Given the description of an element on the screen output the (x, y) to click on. 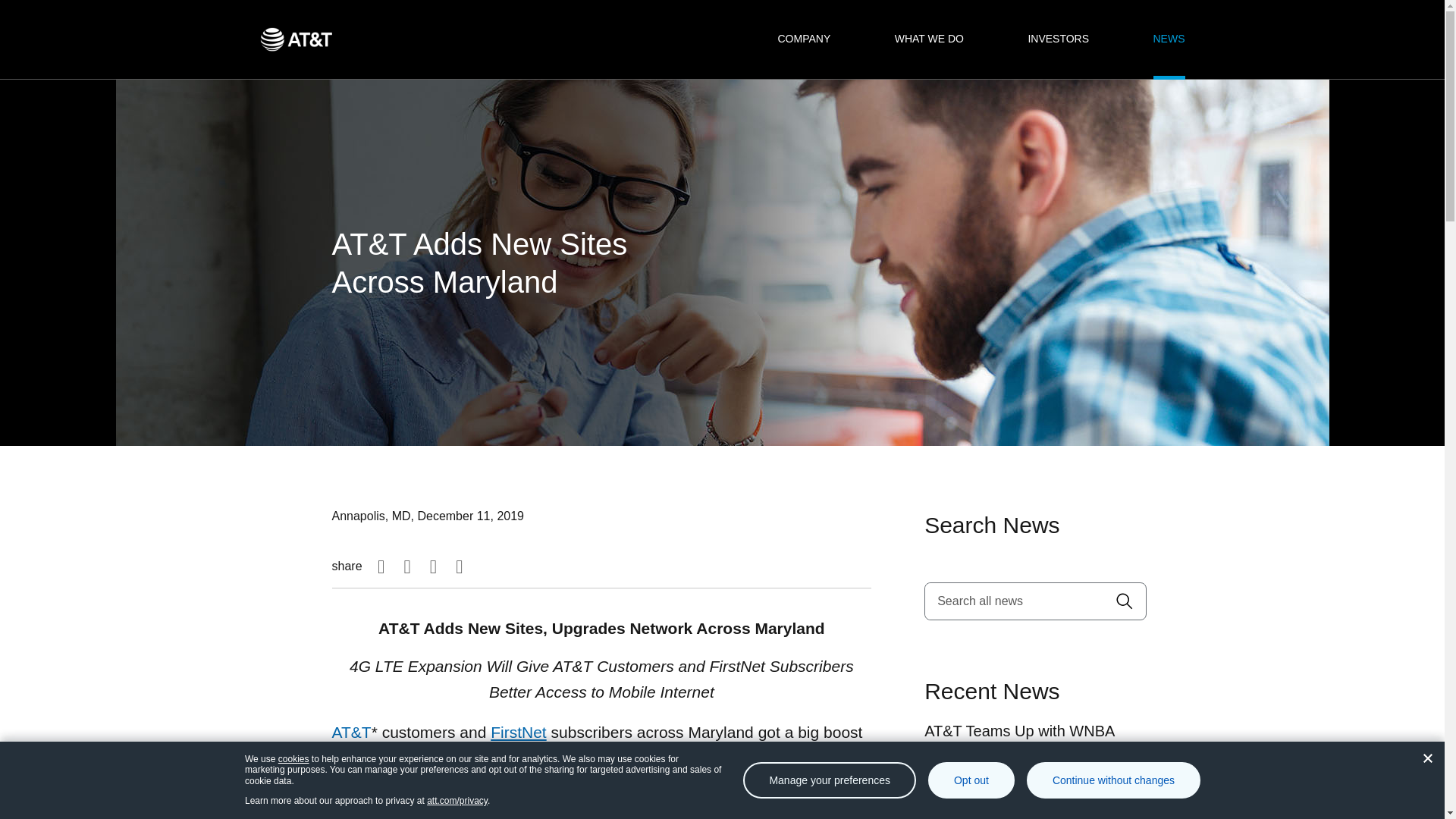
COMPANY (803, 39)
NEWS (1169, 39)
WHAT WE DO (929, 39)
INVESTORS (1058, 39)
